Given the description of an element on the screen output the (x, y) to click on. 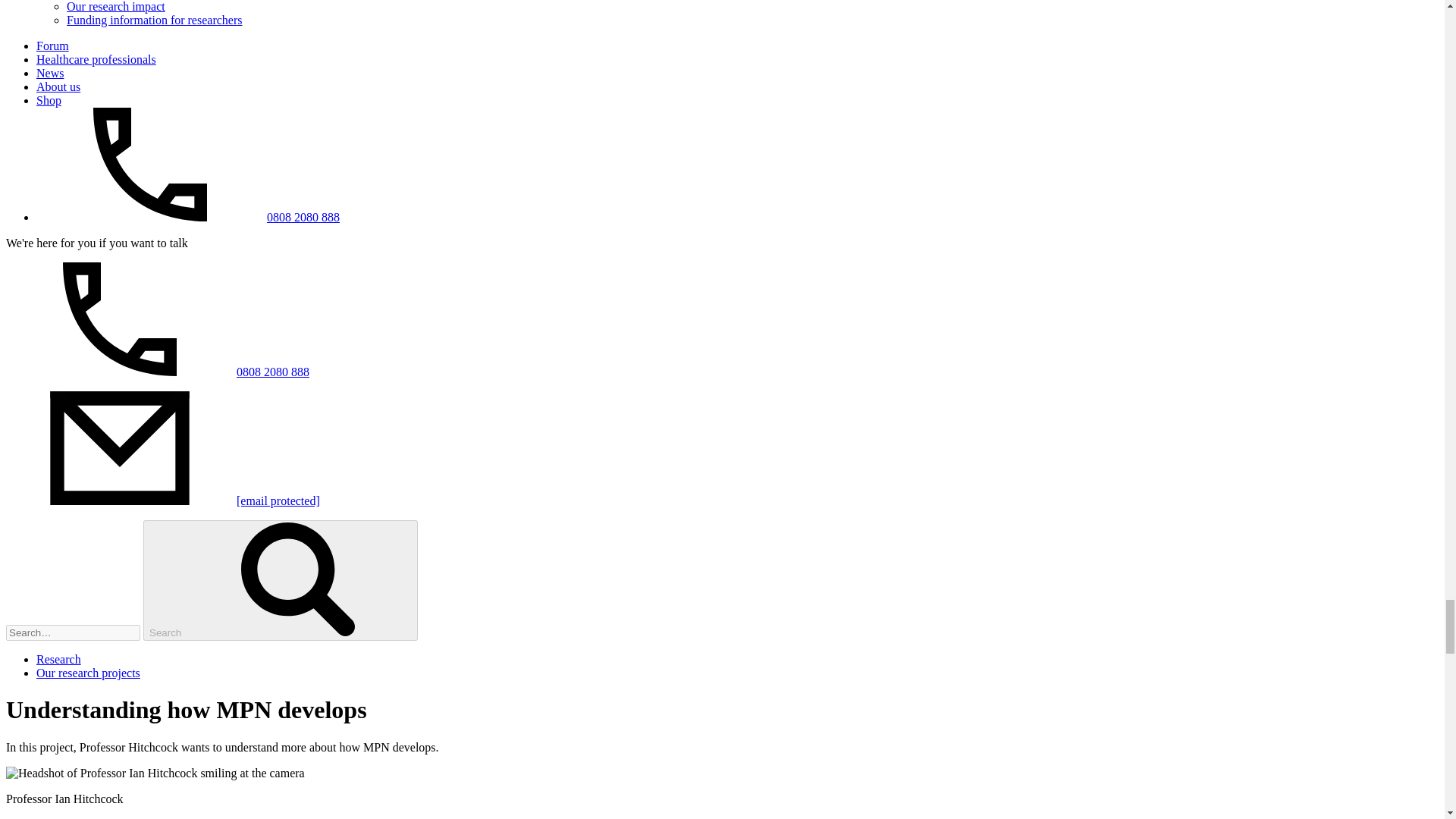
Our research projects (87, 672)
Research (58, 658)
